Given the description of an element on the screen output the (x, y) to click on. 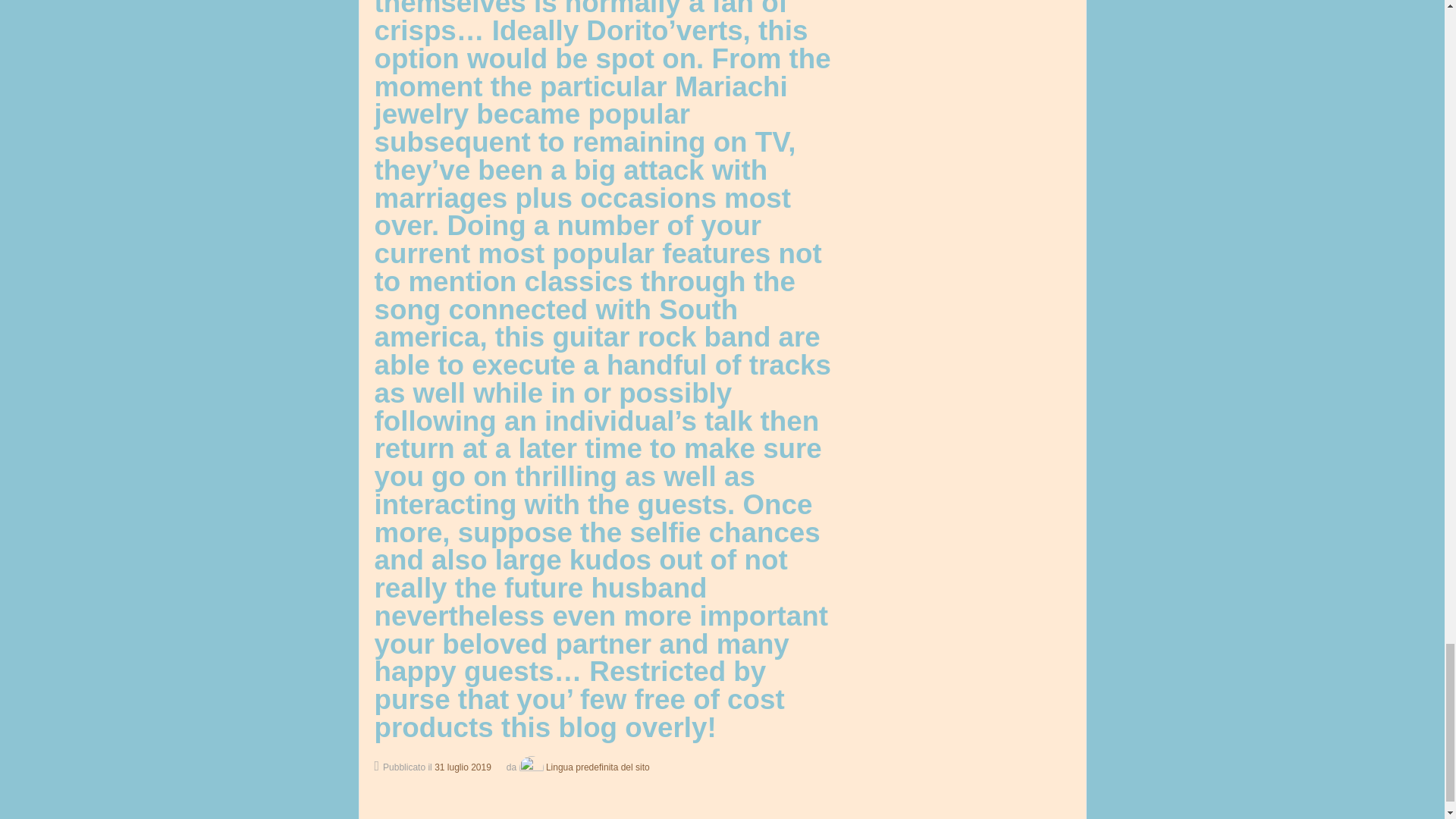
Lingua predefinita del sito (582, 767)
31 luglio 2019 (462, 767)
Vedi tutti gli articoli di Lingua predefinita del sito (582, 767)
